Given the description of an element on the screen output the (x, y) to click on. 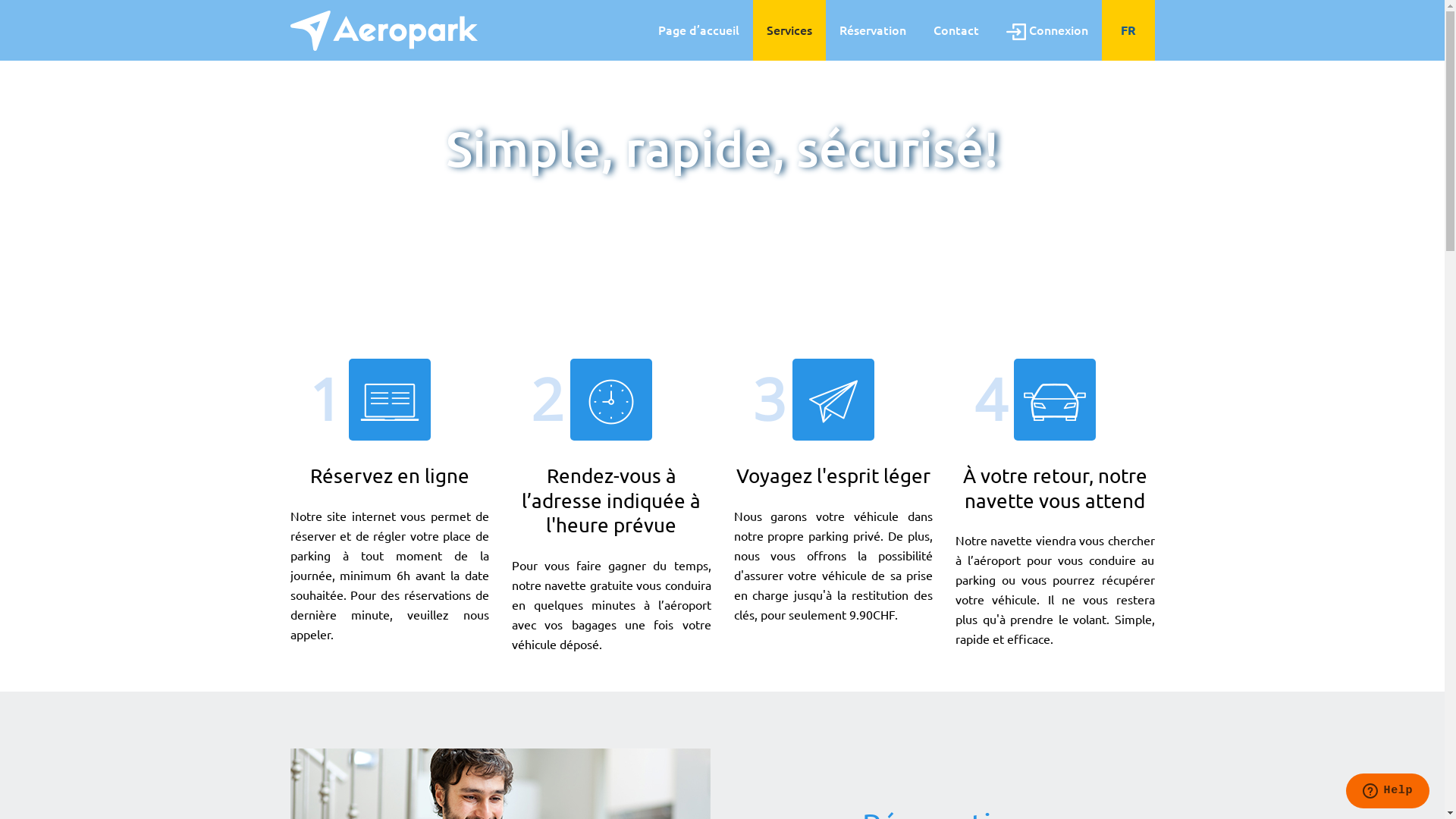
Contact Element type: text (955, 30)
Opens a widget where you can chat to one of our agents Element type: hover (1387, 792)
FR Element type: text (1127, 30)
Services Element type: text (788, 30)
Connexion Element type: text (1046, 30)
